Given the description of an element on the screen output the (x, y) to click on. 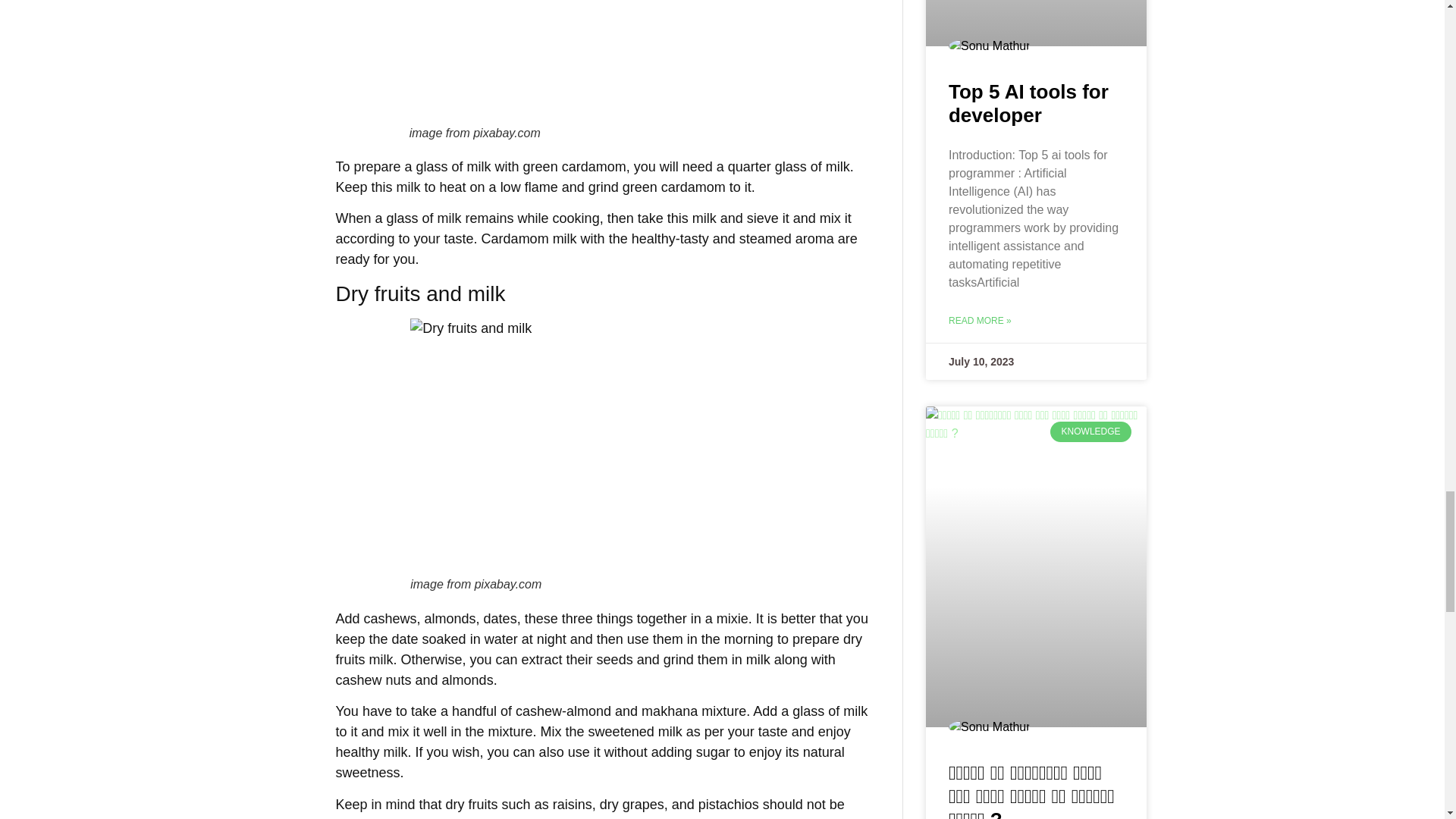
Dry fruits and milk (603, 447)
Top 5 AI tools for developer (1028, 103)
Green Cardamom and Milk (603, 62)
